Given the description of an element on the screen output the (x, y) to click on. 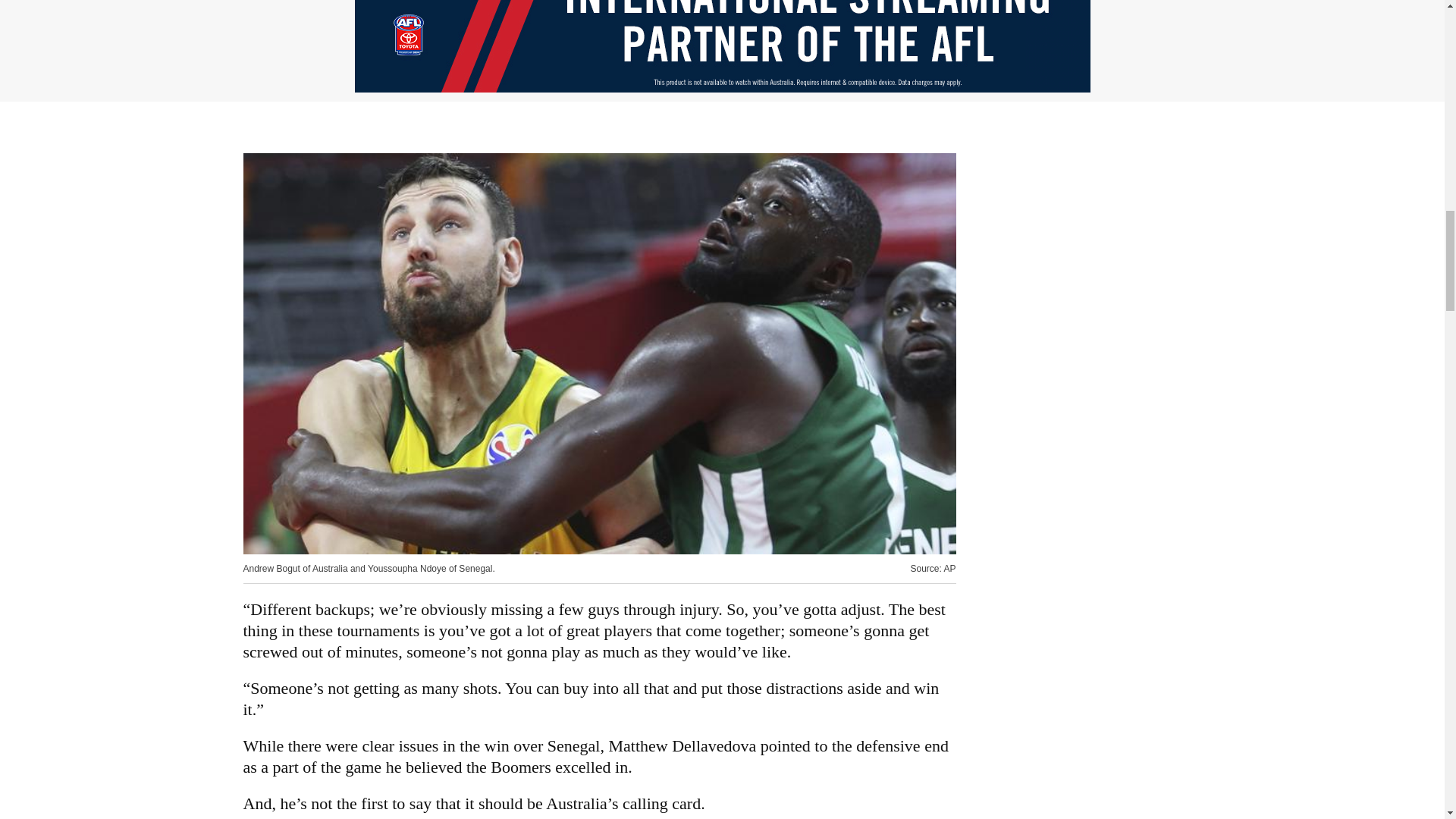
3rd party ad content (722, 46)
